Given the description of an element on the screen output the (x, y) to click on. 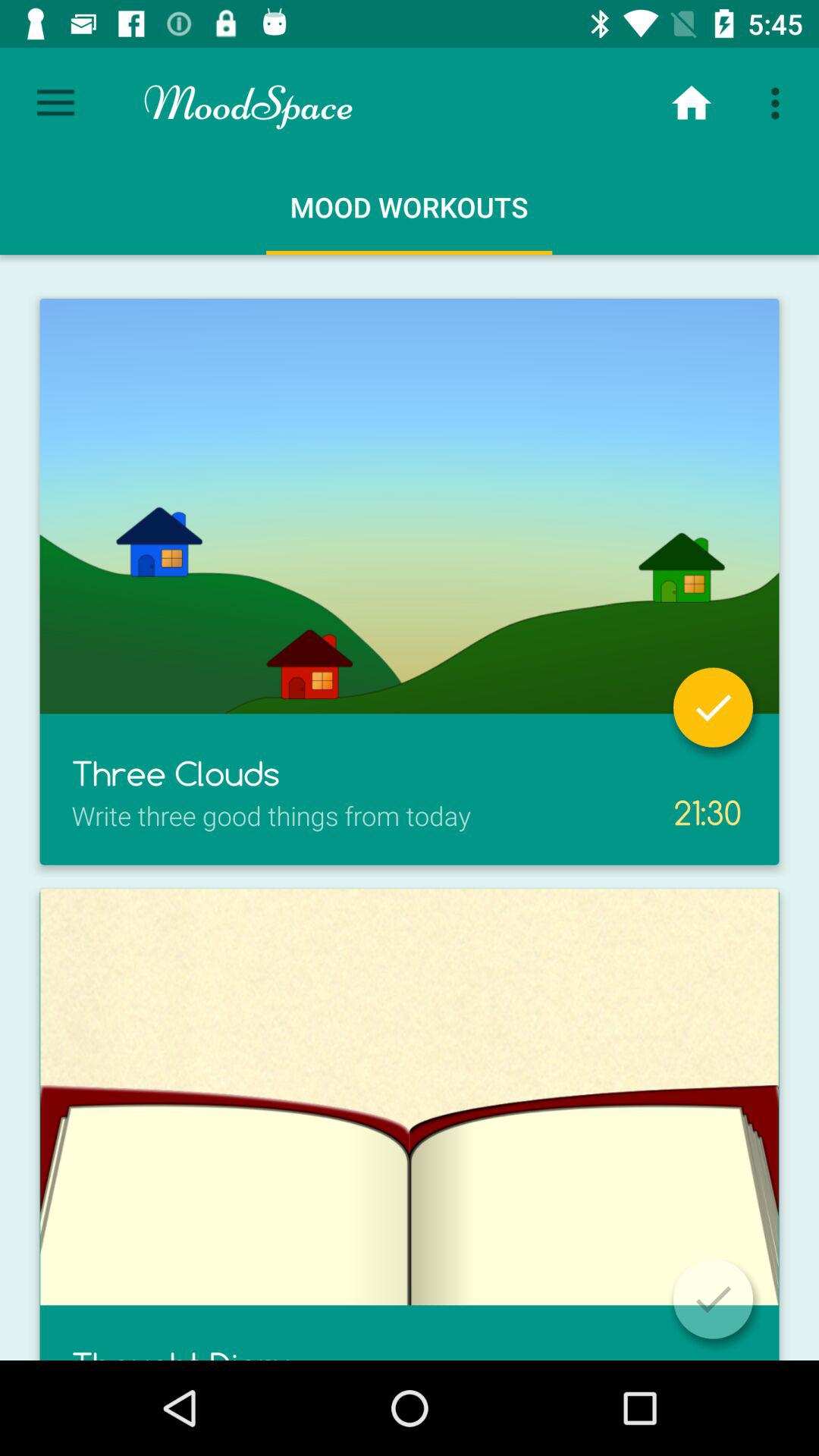
accomplished task (713, 707)
